Given the description of an element on the screen output the (x, y) to click on. 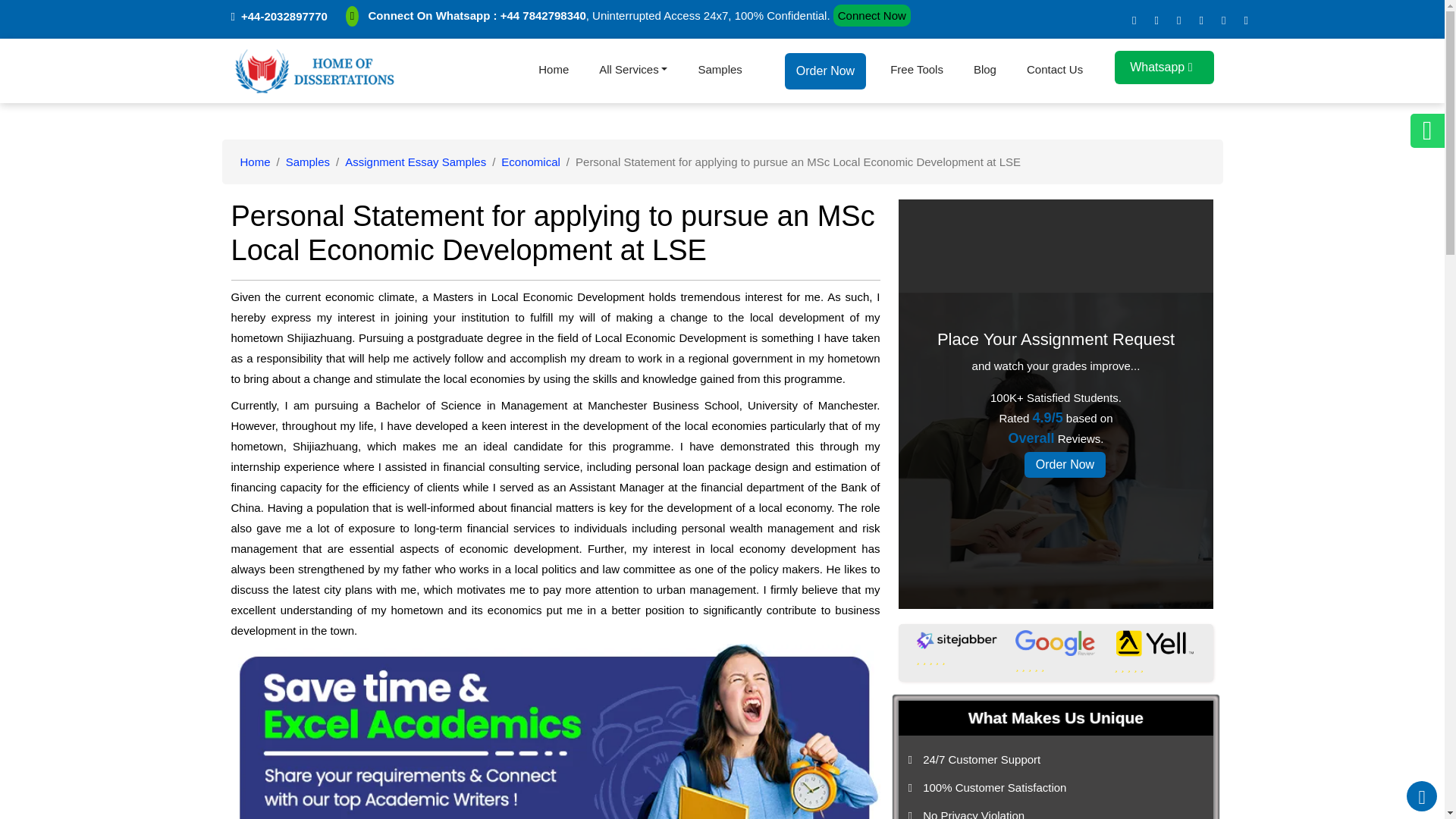
Home (553, 69)
Connect Now (871, 15)
All Services (632, 69)
Go to top (1421, 796)
